Given the description of an element on the screen output the (x, y) to click on. 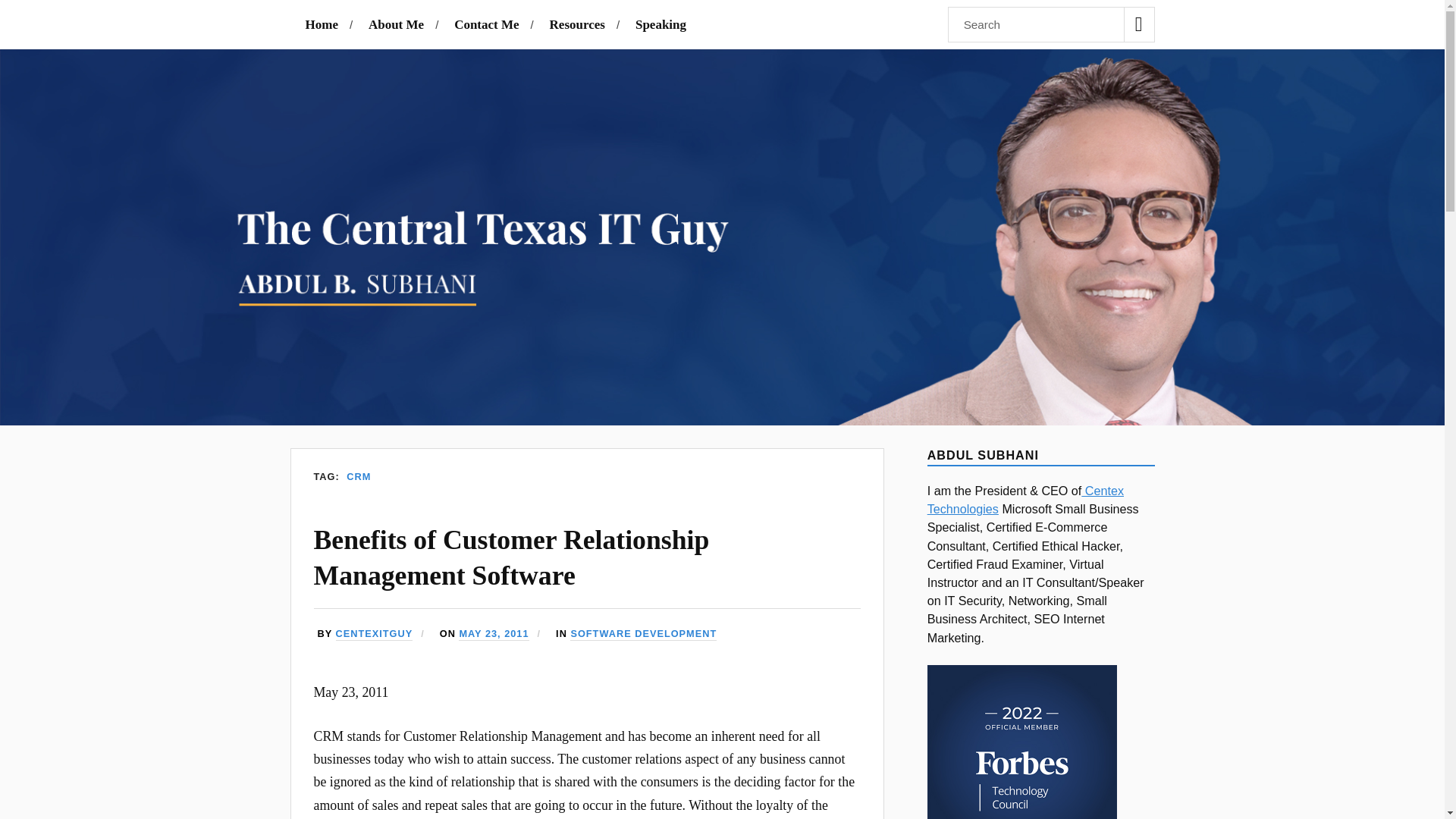
About Me (395, 24)
Resources (577, 24)
Posts by centexitguy (374, 634)
CENTEXITGUY (374, 634)
SOFTWARE DEVELOPMENT (643, 634)
Speaking (659, 24)
Centex Technologies (1025, 499)
Contact Me (486, 24)
Benefits of Customer Relationship Management Software (512, 556)
MAY 23, 2011 (493, 634)
